Given the description of an element on the screen output the (x, y) to click on. 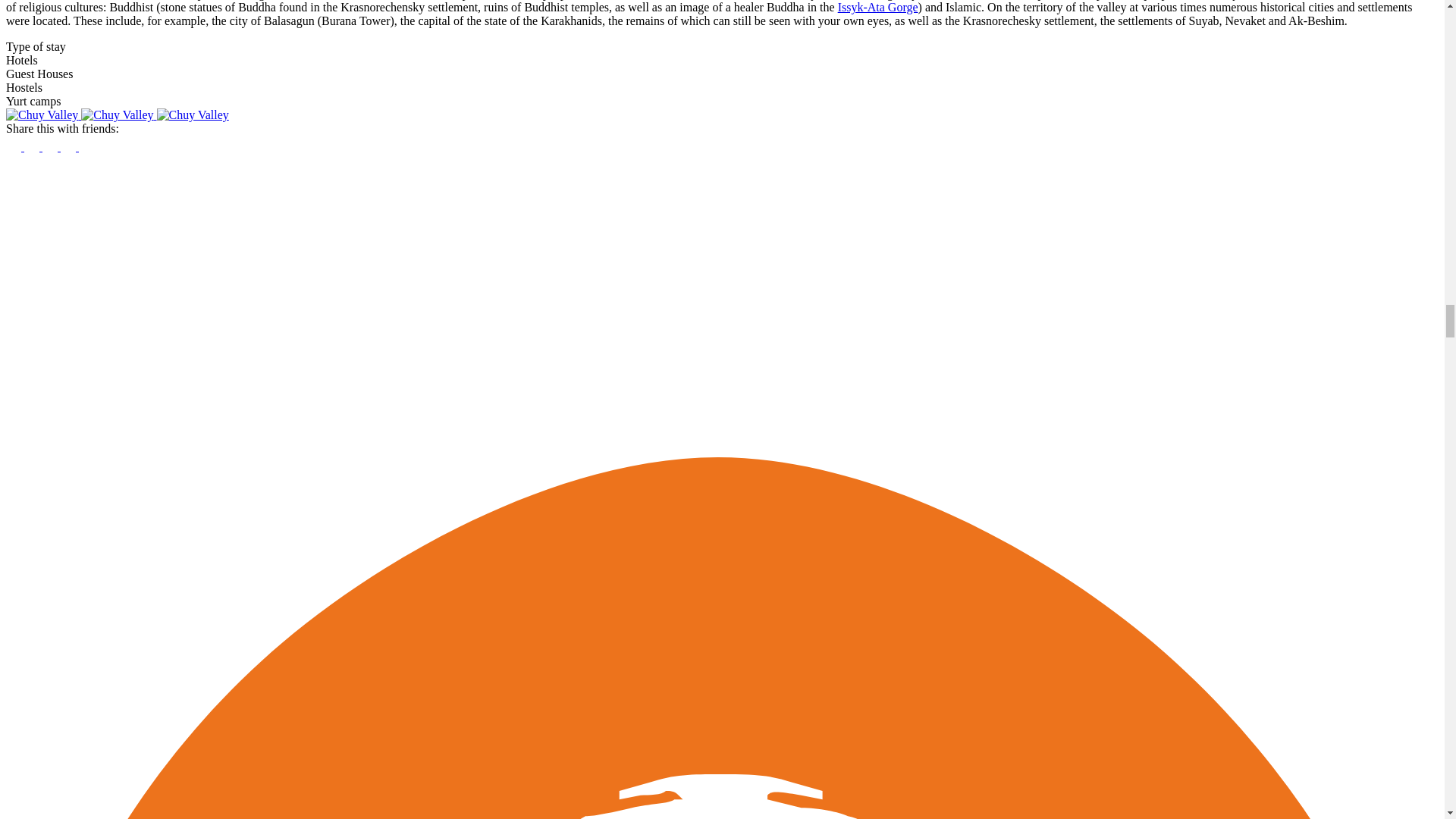
Share to Facebook (14, 146)
Share to Pinterest (69, 146)
Share to X (33, 146)
Share to Email (86, 146)
Share to WhatsApp (51, 146)
